Given the description of an element on the screen output the (x, y) to click on. 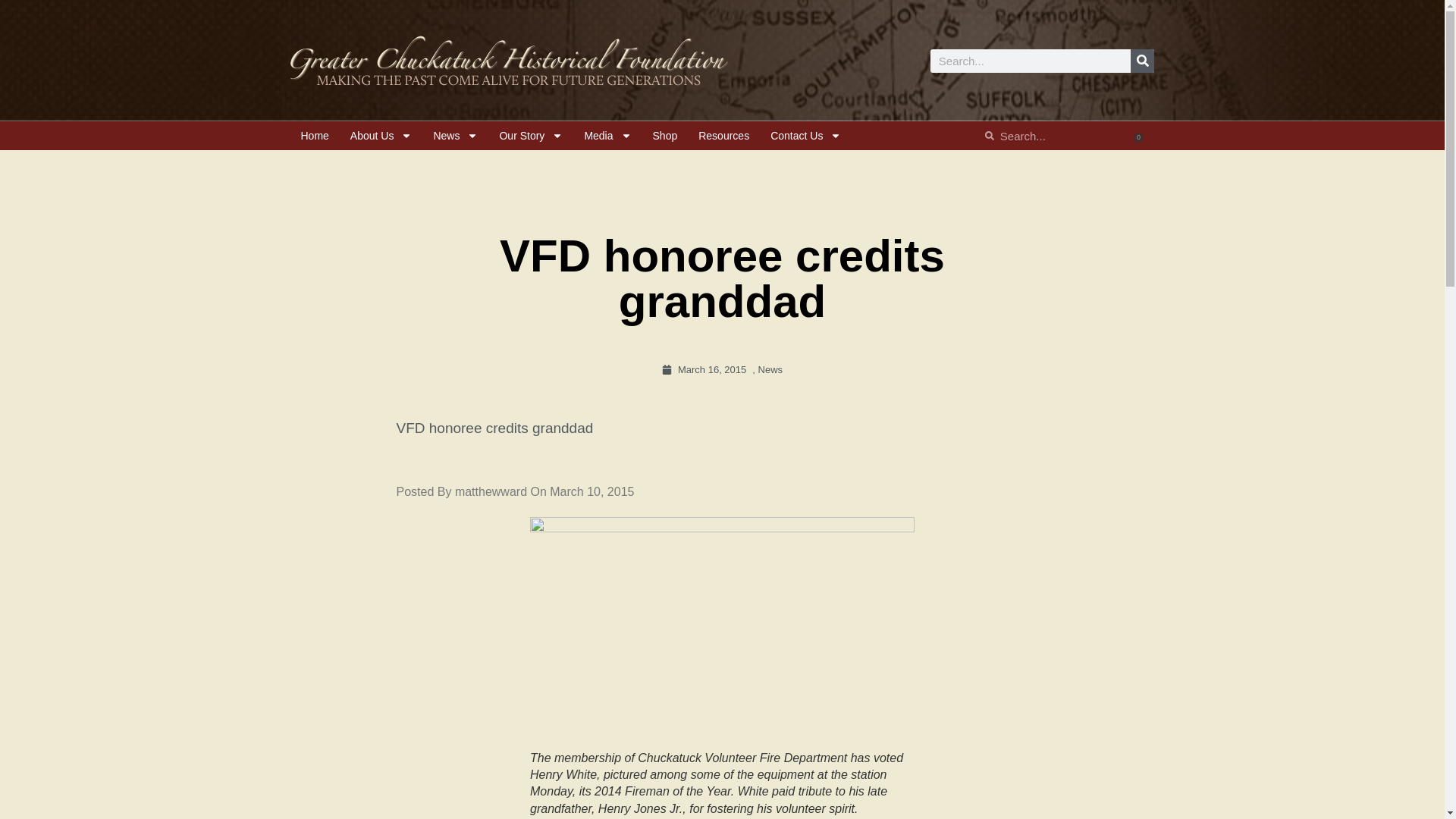
Contact Us (805, 135)
Home (314, 135)
Media (607, 135)
Our Story (530, 135)
Shop (665, 135)
News (454, 135)
Resources (723, 135)
About Us (381, 135)
